Given the description of an element on the screen output the (x, y) to click on. 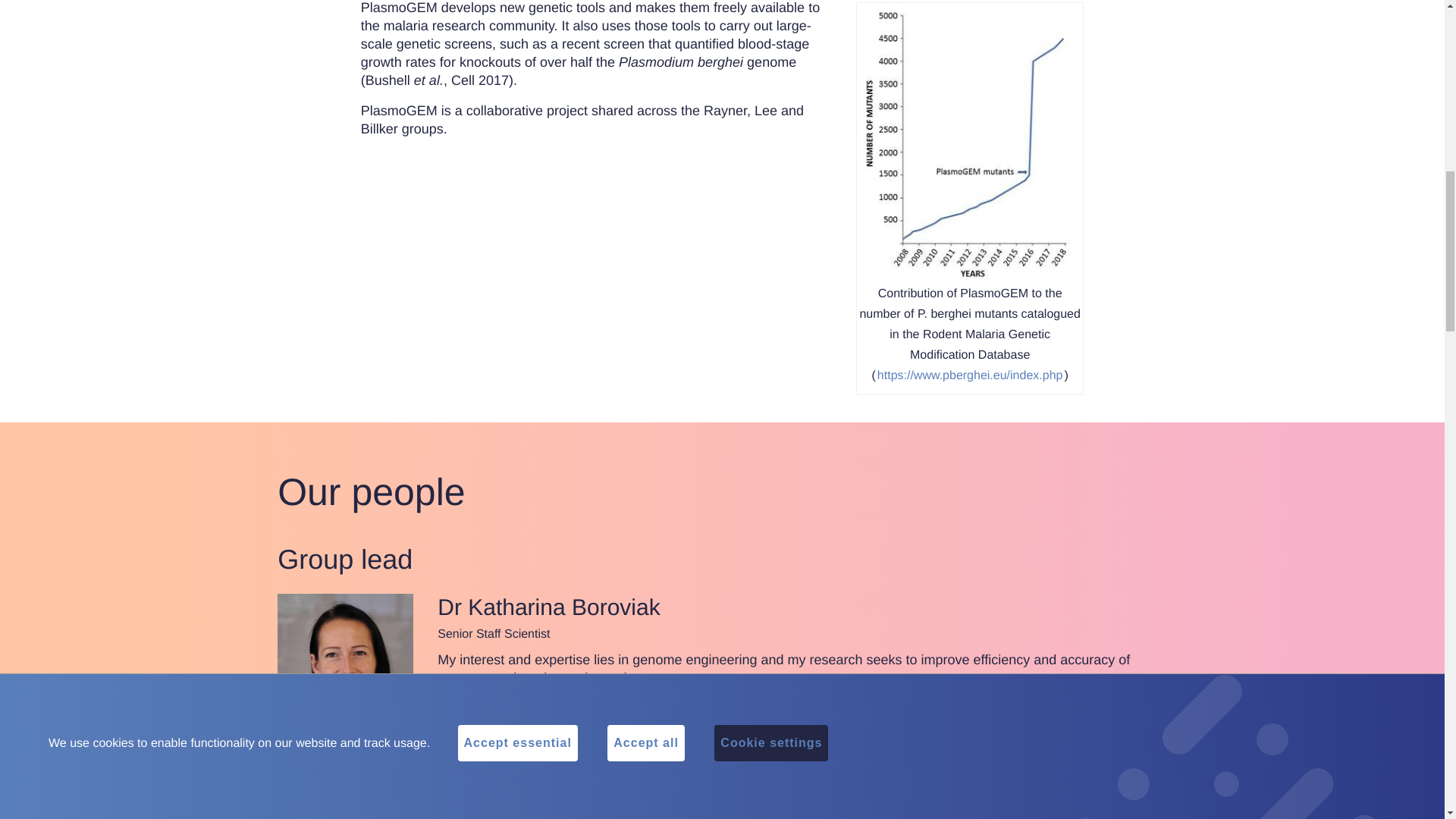
Dr Katharina Boroviak (344, 661)
